Given the description of an element on the screen output the (x, y) to click on. 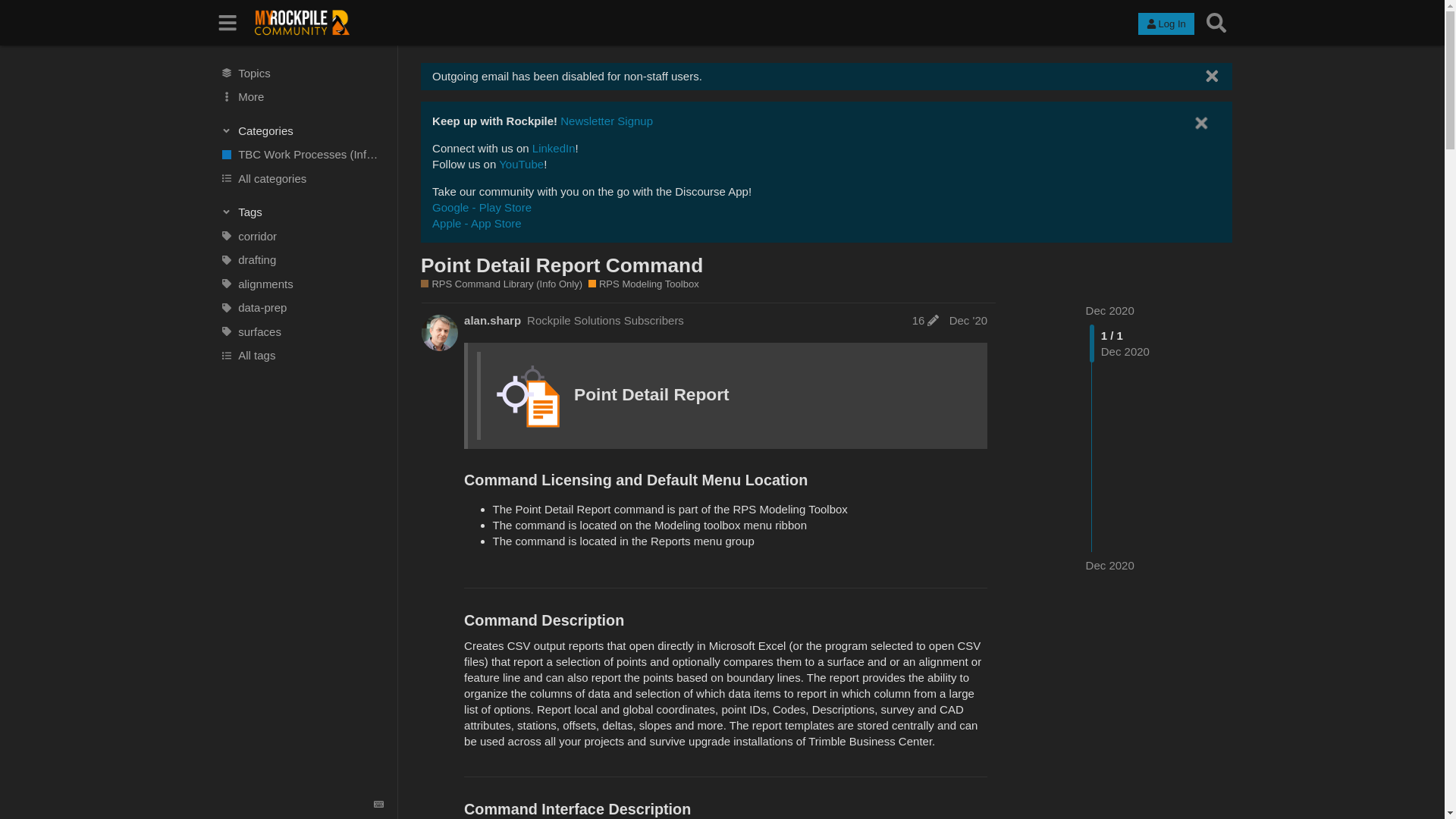
corridor (301, 236)
alan.sharp (492, 320)
Keyboard Shortcuts (378, 805)
Apple - App Store (476, 223)
Tags (301, 212)
16 (925, 319)
Dec 2020 (1110, 565)
alignments (301, 283)
Dec 2020 (1110, 309)
Point Detail Report Command (561, 264)
Sidebar (227, 22)
drafting (301, 259)
Dec '20 (968, 319)
YouTube (521, 164)
